Given the description of an element on the screen output the (x, y) to click on. 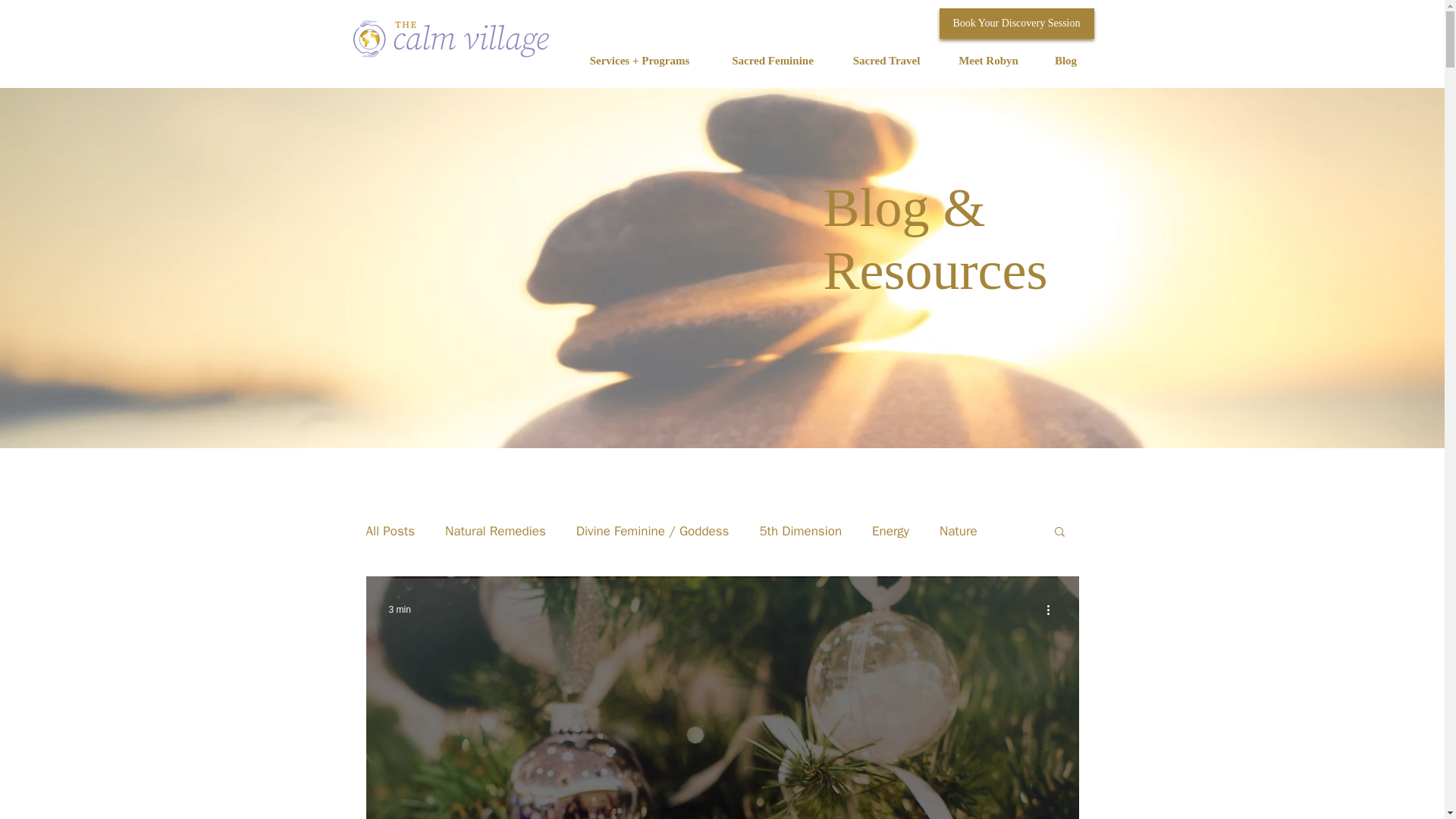
5th Dimension (799, 529)
3 min (399, 609)
All Posts (389, 529)
Nature (957, 529)
Blog (1065, 60)
Natural Remedies (495, 529)
Energy (890, 529)
Book Your Discovery Session (1016, 23)
